Given the description of an element on the screen output the (x, y) to click on. 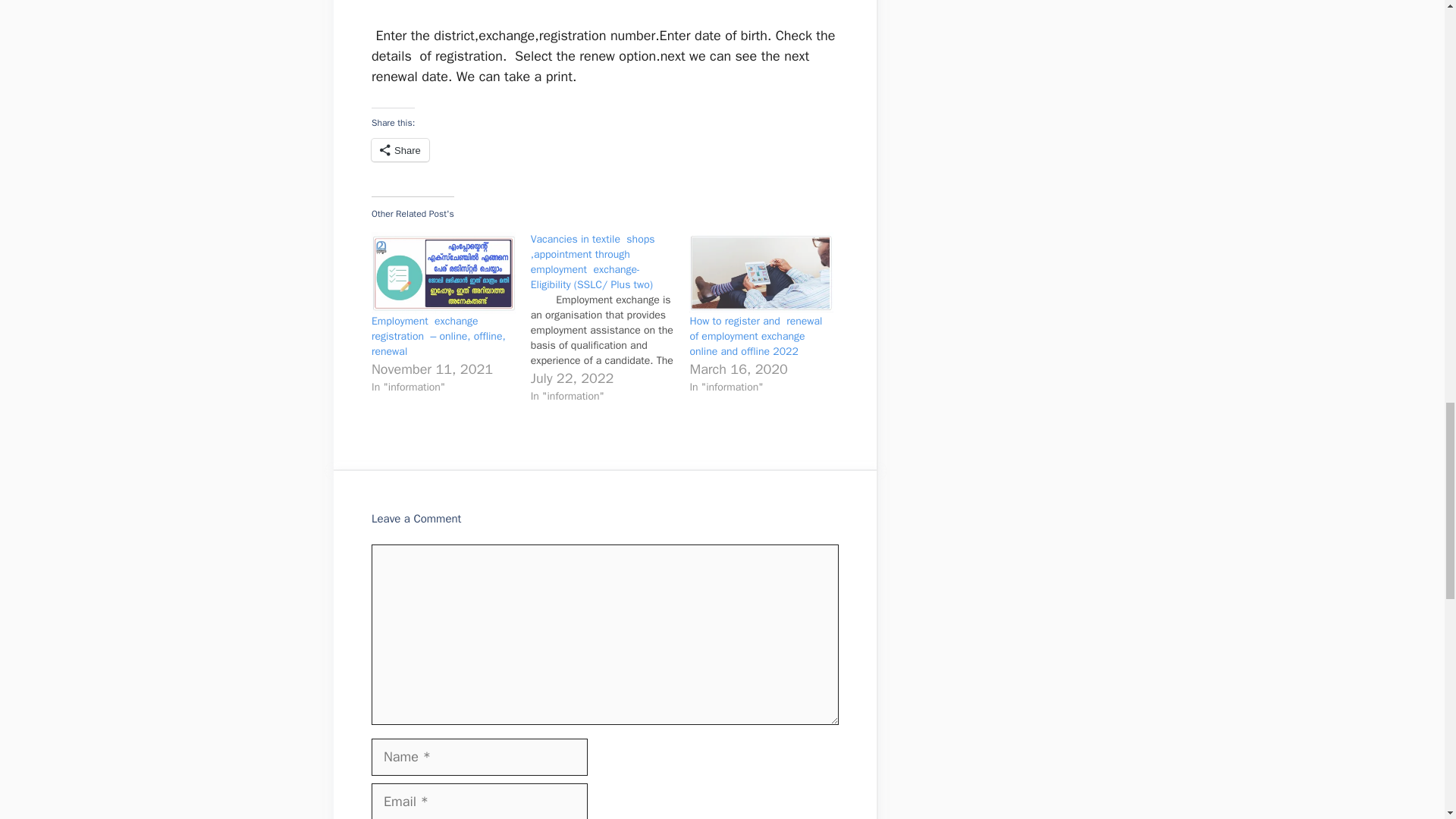
Share (400, 149)
